Given the description of an element on the screen output the (x, y) to click on. 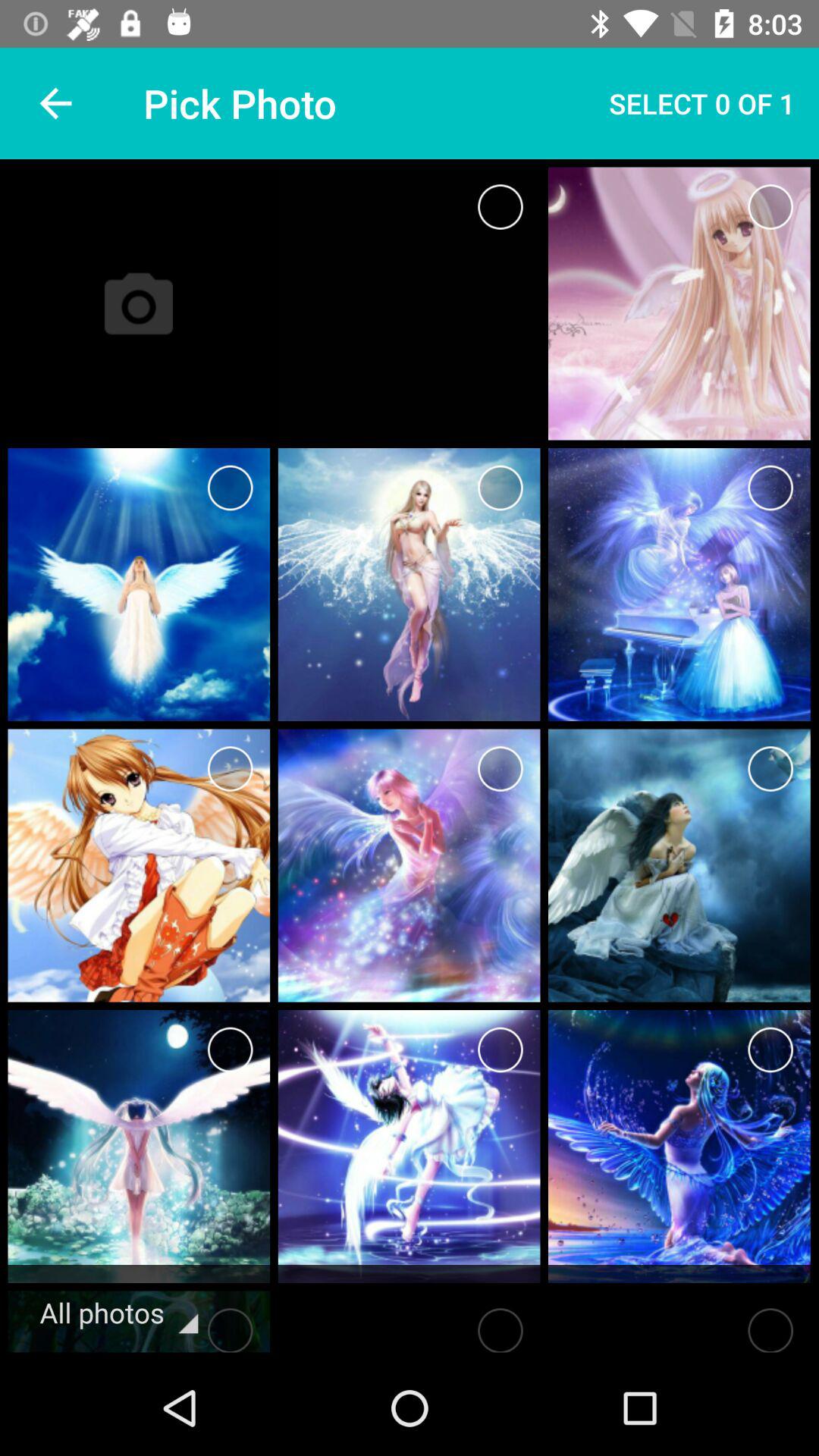
play (500, 1325)
